Given the description of an element on the screen output the (x, y) to click on. 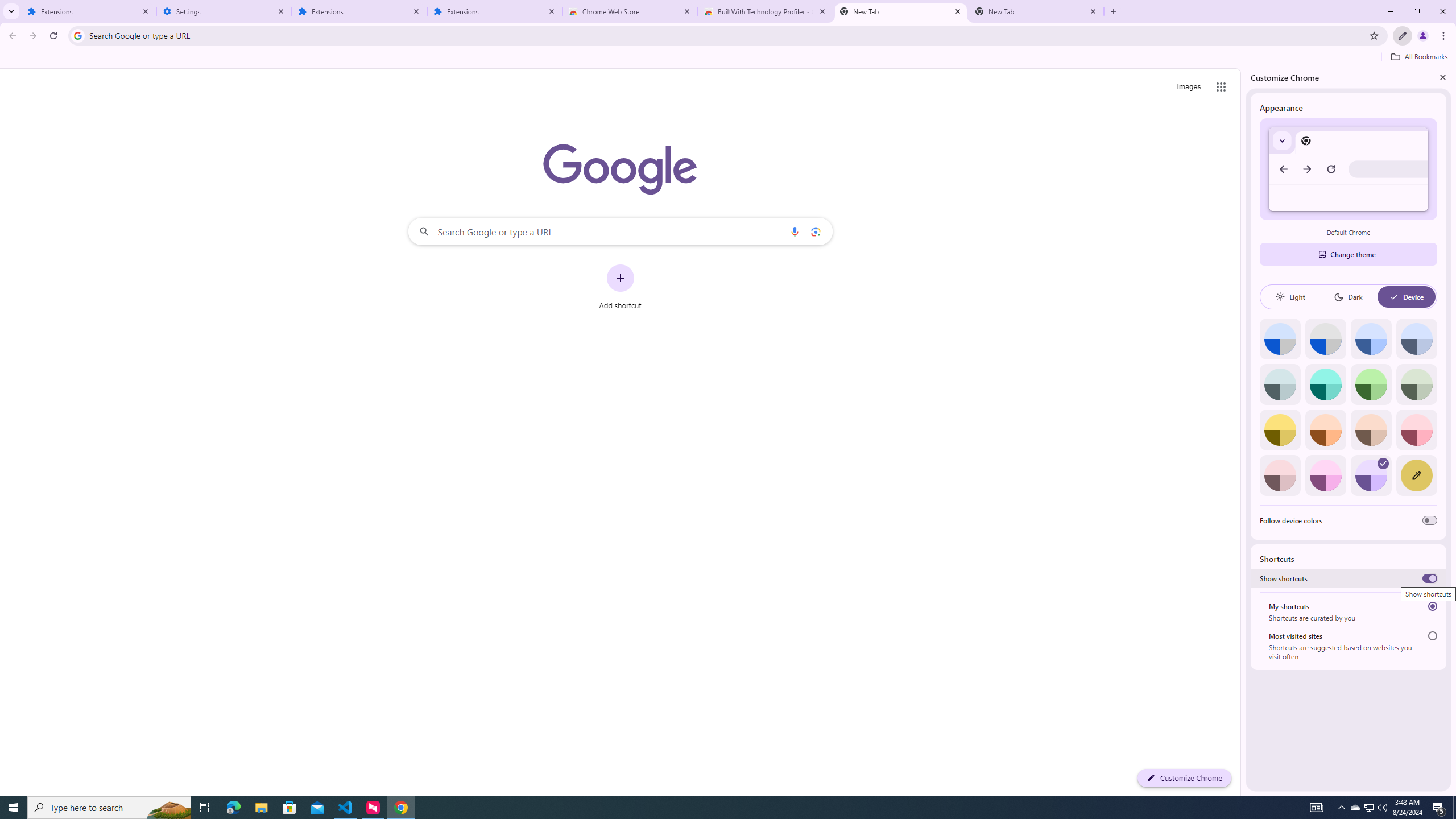
Dark (1348, 296)
Search icon (77, 35)
Settings (224, 11)
Reload (52, 35)
Close (1442, 77)
Apricot (1371, 429)
Cool grey (1416, 338)
Grey (1279, 383)
Extensions (359, 11)
Back (10, 35)
AutomationID: svg (1383, 463)
Change theme (1348, 254)
Custom color (1416, 475)
BuiltWith Technology Profiler - Chrome Web Store (765, 11)
